Given the description of an element on the screen output the (x, y) to click on. 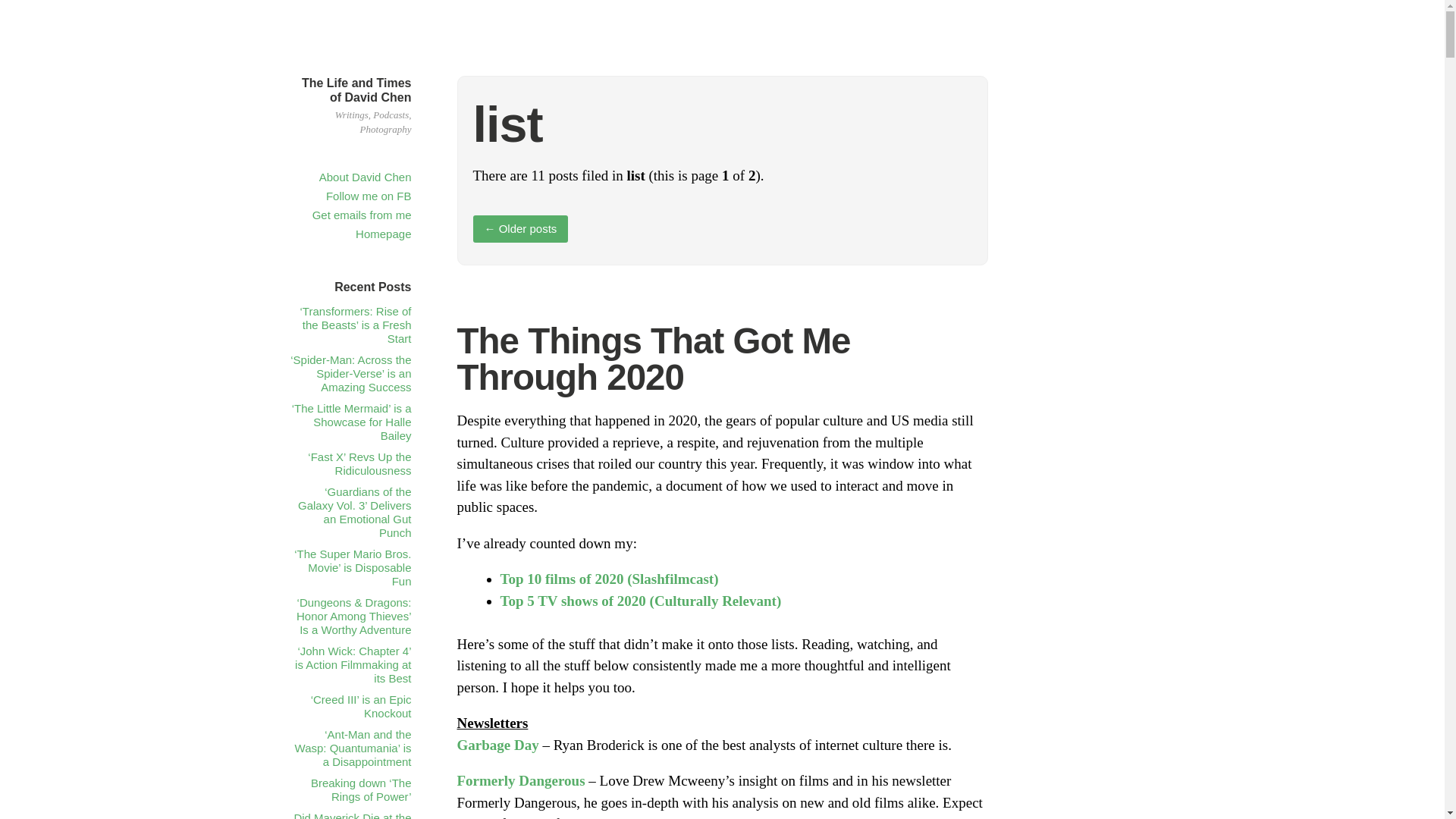
Formerly Dangerous (521, 780)
Get emails from me (362, 214)
The Life and Times of David Chen (356, 90)
Garbage Day (497, 744)
Permalink to The Things That Got Me Through 2020 (653, 359)
Follow me on FB (369, 195)
The Things That Got Me Through 2020 (653, 359)
The Life and Times of David Chen (356, 90)
About David Chen (365, 176)
Homepage (382, 233)
